Given the description of an element on the screen output the (x, y) to click on. 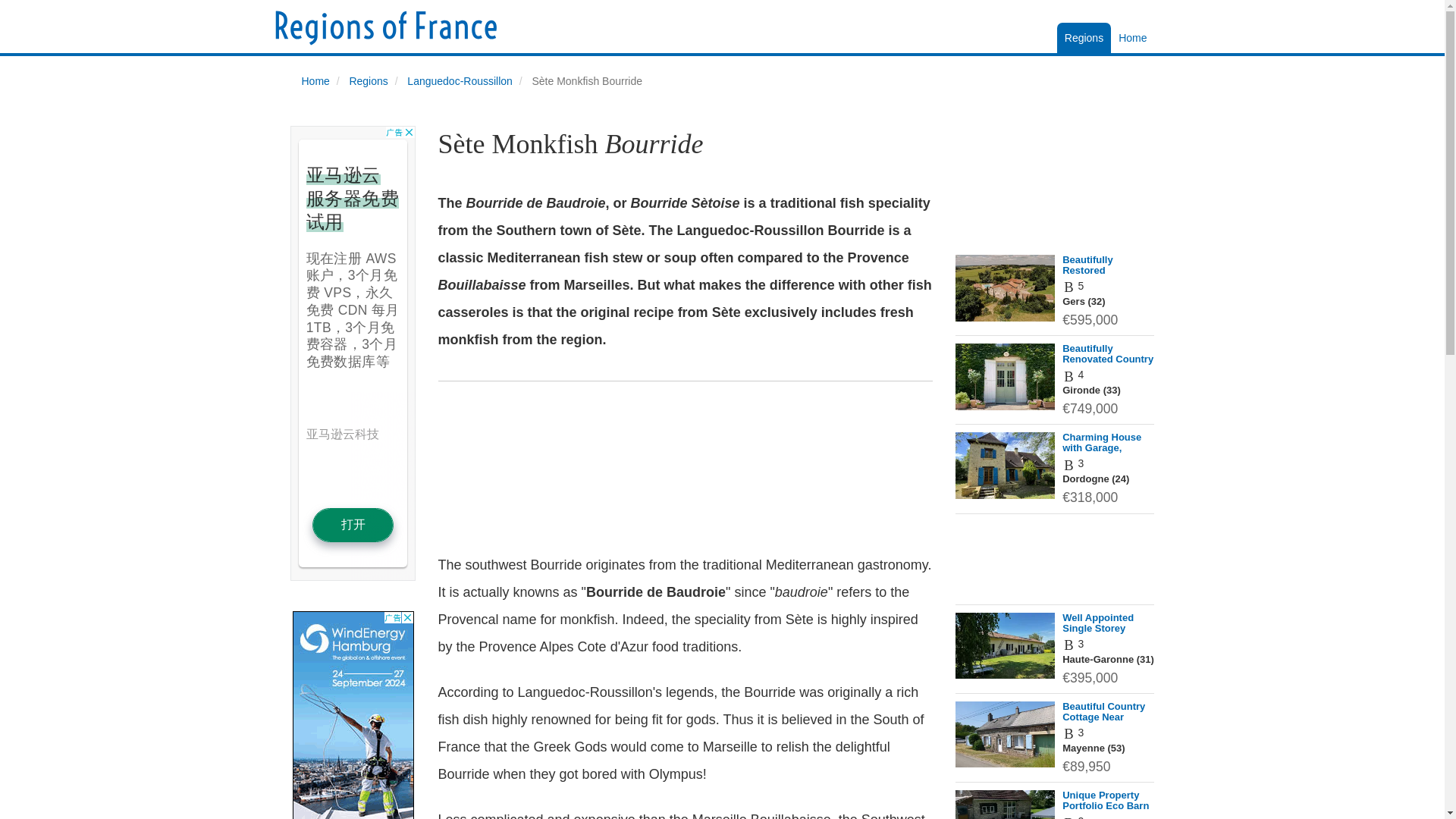
Regions of France (384, 27)
Languedoc-Roussillon (459, 80)
French Regional Information (1083, 37)
Regions (368, 80)
Beautifully Renovated Country House, Saint Emilion, Gironde (1107, 364)
Charming House with Garage, Swimming Pool on Land of over 27 (1106, 453)
Home (315, 80)
Home (1132, 37)
Beautifully Restored Limestone Property, Condom, Gers (1106, 280)
Discover the 22 administrative French regions (1132, 37)
